Given the description of an element on the screen output the (x, y) to click on. 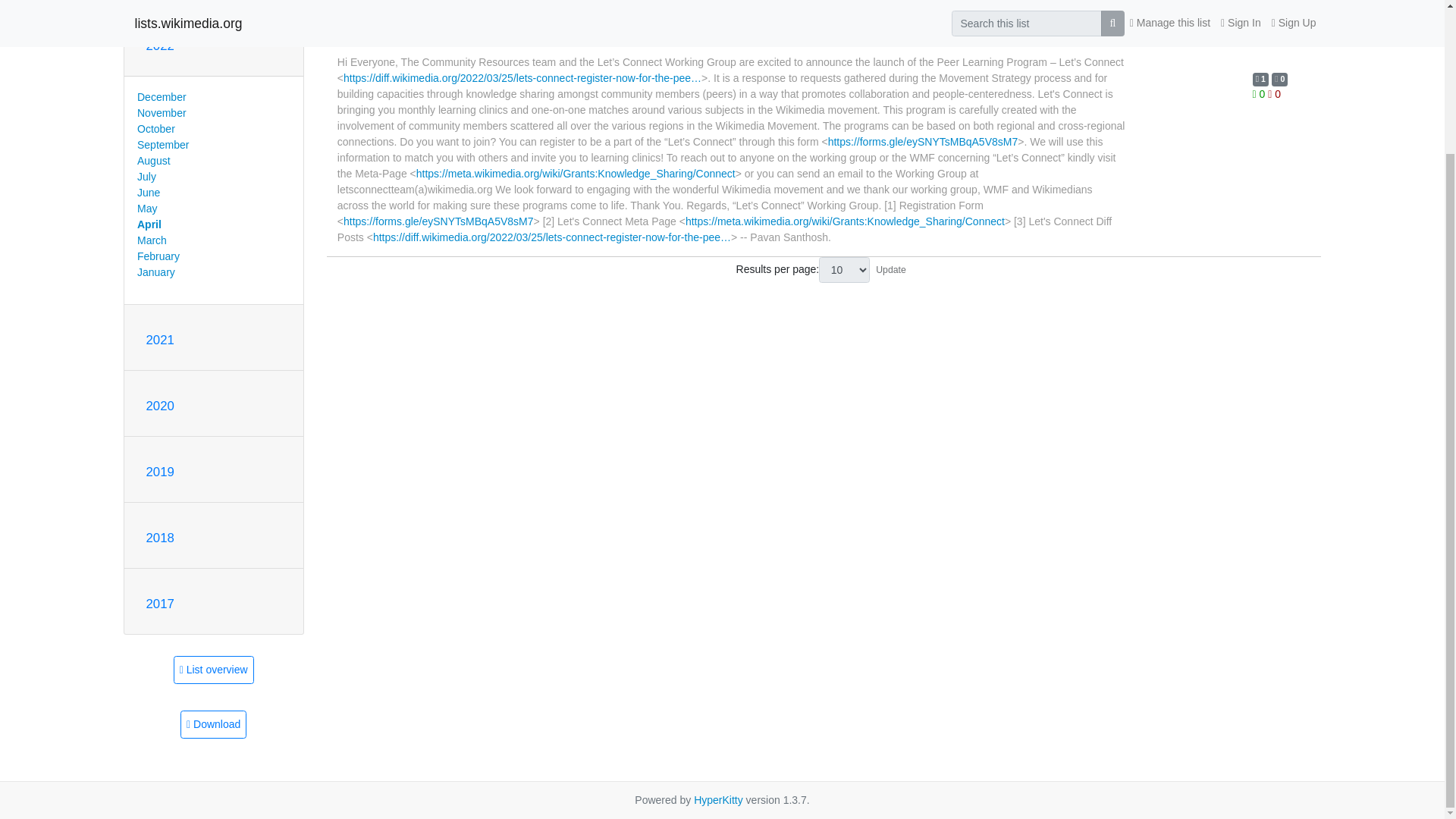
June (148, 192)
October (155, 128)
November (161, 112)
You must be logged-in to vote. (1274, 93)
December (161, 96)
July (145, 176)
September (162, 144)
This month in gzipped mbox format (213, 724)
You must be logged-in to vote. (1260, 93)
August (153, 160)
